Given the description of an element on the screen output the (x, y) to click on. 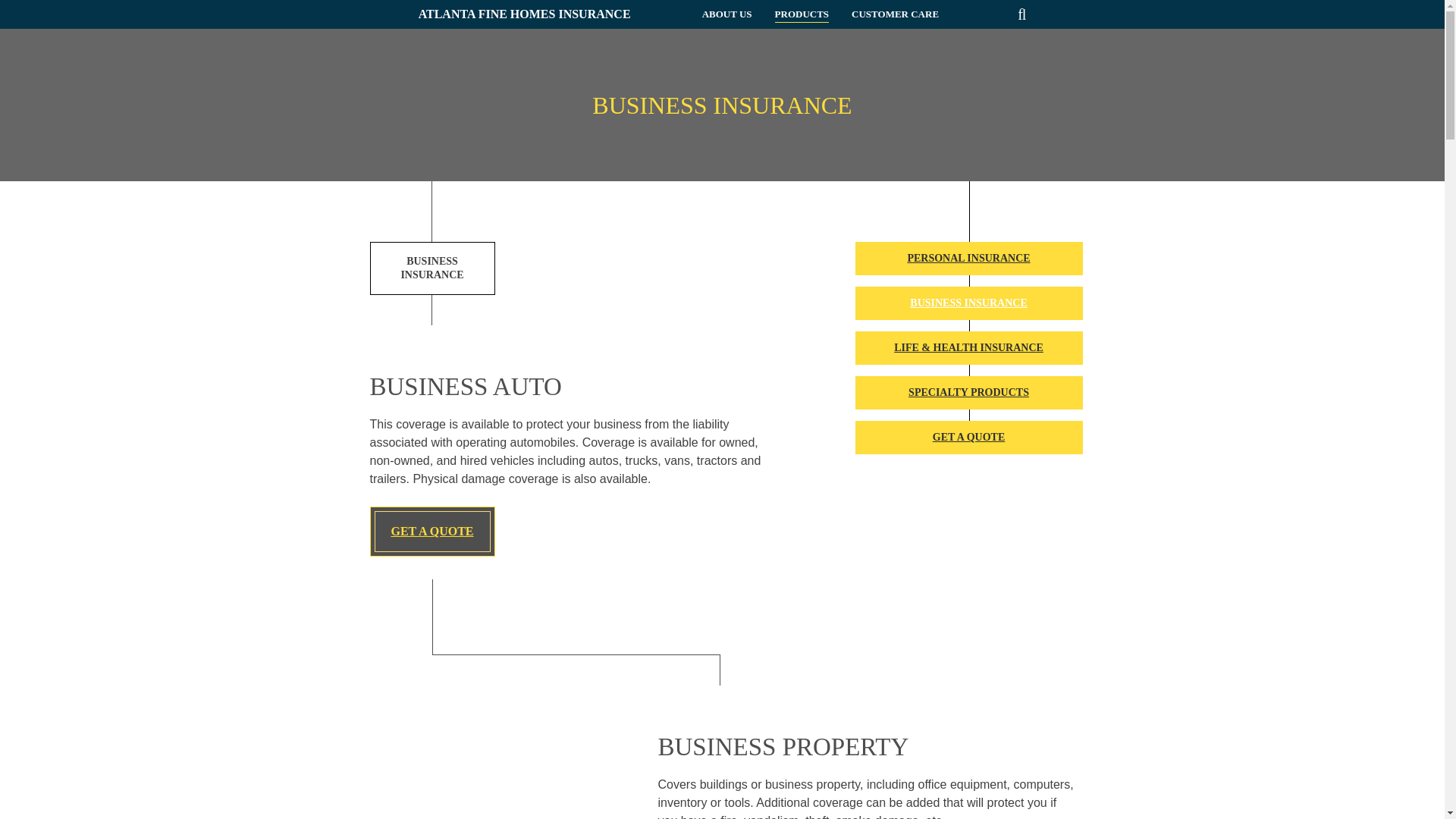
ATLANTA FINE HOMES INSURANCE (524, 14)
CUSTOMER CARE (895, 14)
PRODUCTS (801, 14)
GET A QUOTE (432, 531)
ABOUT US (726, 14)
